Given the description of an element on the screen output the (x, y) to click on. 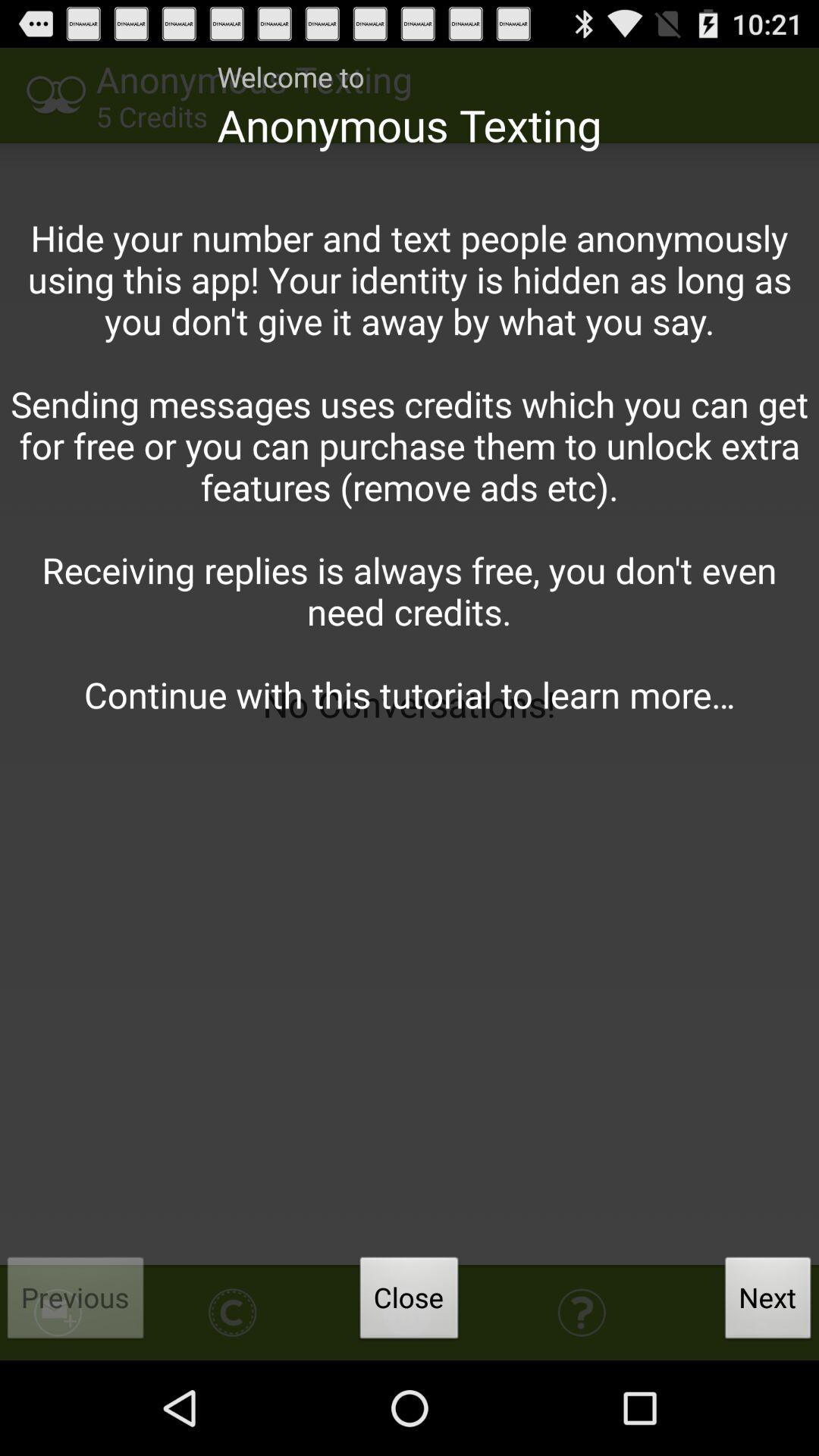
scroll until the close button (409, 1302)
